Given the description of an element on the screen output the (x, y) to click on. 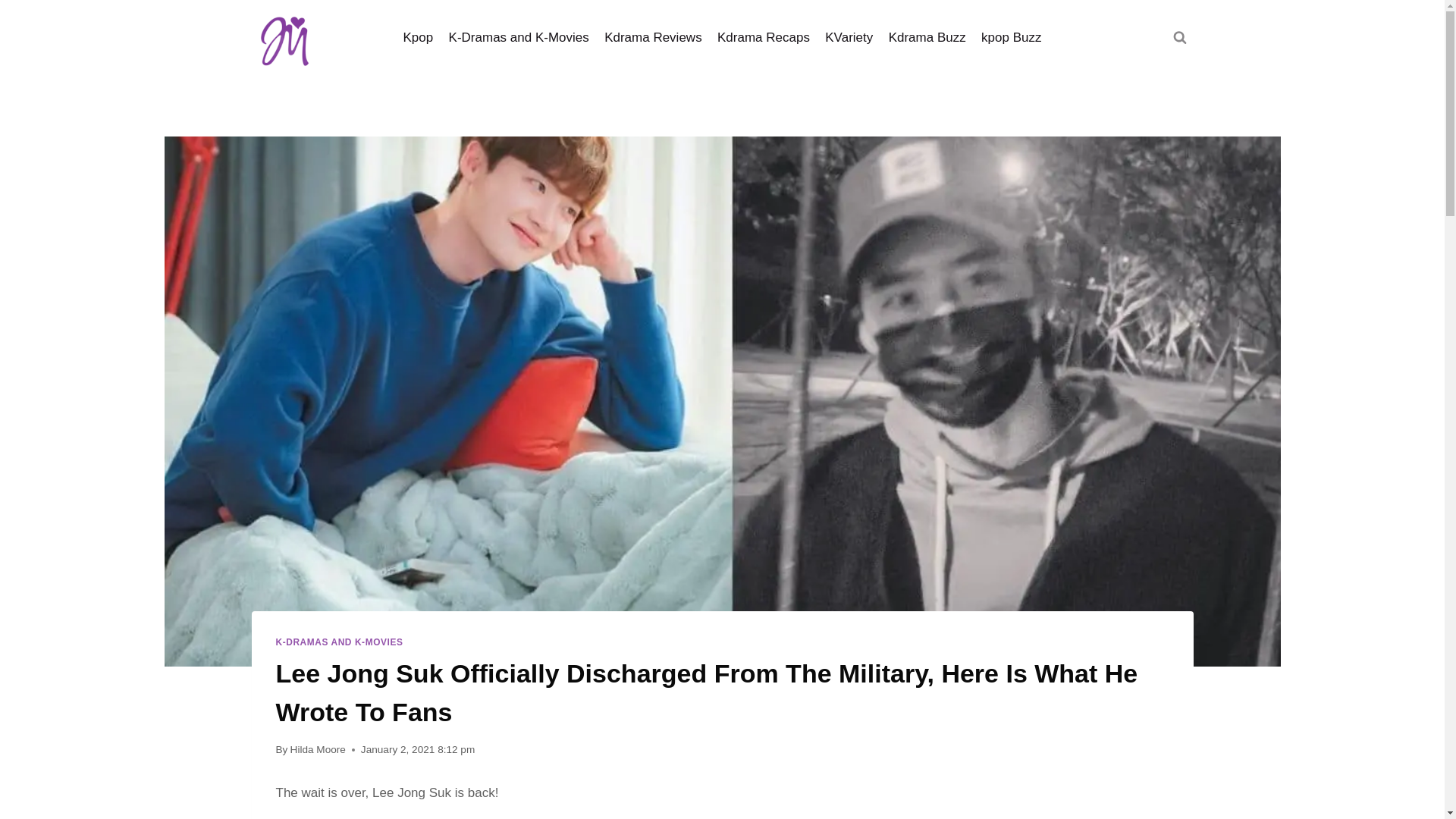
K-DRAMAS AND K-MOVIES (339, 642)
K-Dramas and K-Movies (518, 37)
Kdrama Buzz (926, 37)
Hilda Moore (317, 749)
Kdrama Recaps (763, 37)
Kpop (417, 37)
Kdrama Reviews (653, 37)
KVariety (848, 37)
kpop Buzz (1011, 37)
